Given the description of an element on the screen output the (x, y) to click on. 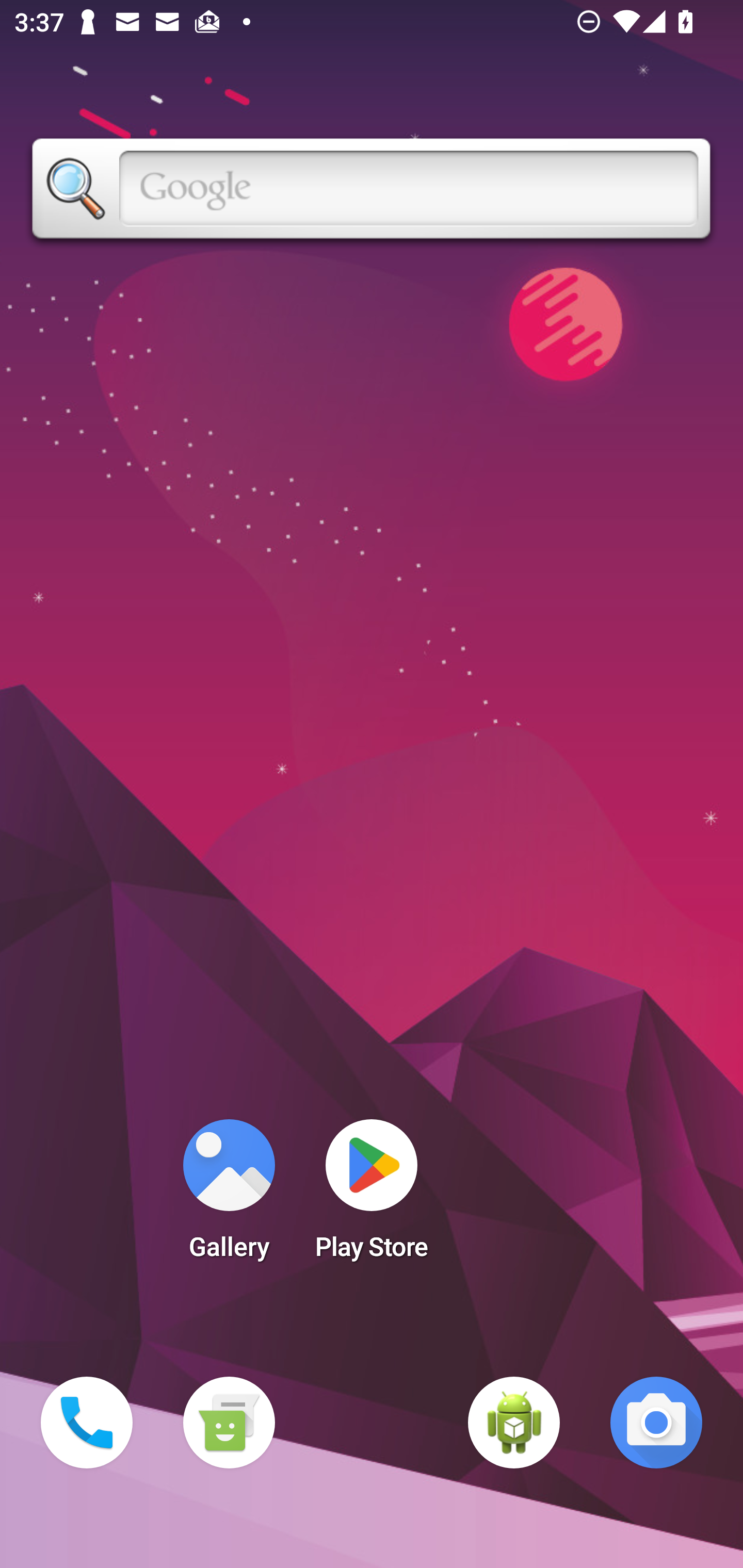
Gallery (228, 1195)
Play Store (371, 1195)
Phone (86, 1422)
Messaging (228, 1422)
WebView Browser Tester (513, 1422)
Camera (656, 1422)
